Given the description of an element on the screen output the (x, y) to click on. 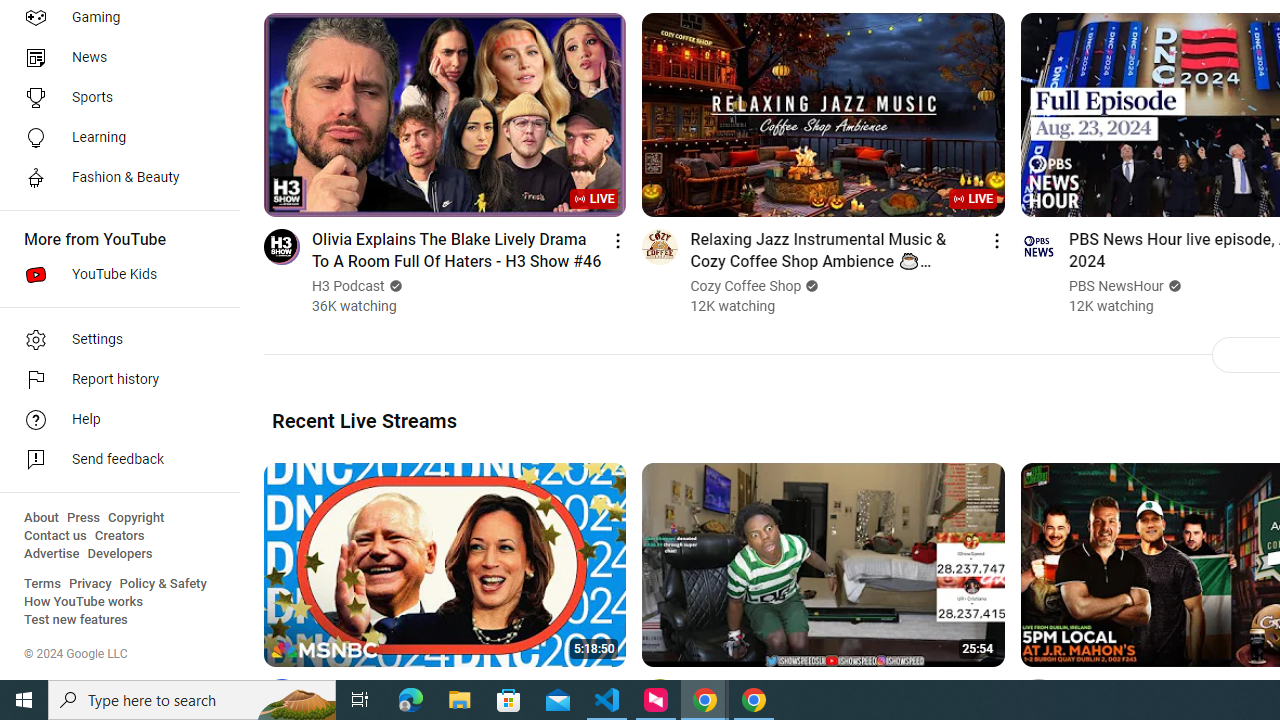
Policy & Safety (163, 584)
How YouTube works (83, 602)
PBS NewsHour (1116, 285)
Fashion & Beauty (113, 177)
Go to channel (1038, 696)
News (113, 57)
Recent Live Streams (363, 420)
Learning (113, 137)
Creators (118, 536)
Action menu (996, 690)
Advertise (51, 554)
Send feedback (113, 459)
